Given the description of an element on the screen output the (x, y) to click on. 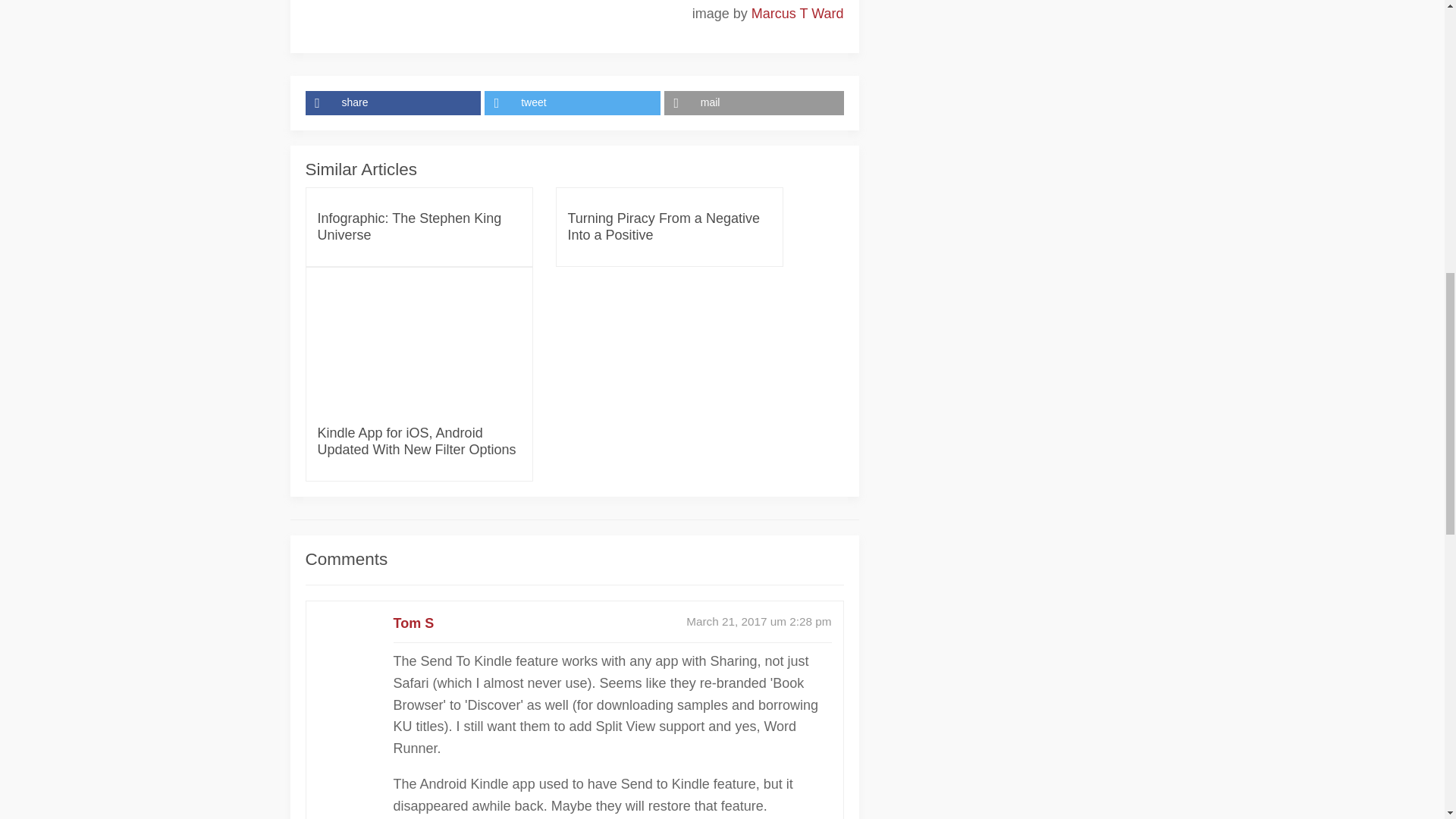
Turning Piracy From a Negative Into a Positive (668, 226)
Marcus T Ward (797, 13)
Infographic: The Stephen King Universe (418, 226)
Kindle App for iOS, Android Updated With New Filter Options (418, 346)
Turning Piracy From a Negative Into a Positive (668, 226)
share (394, 102)
Kindle App for iOS, Android Updated With New Filter Options (418, 441)
Kindle App for iOS, Android Updated With New Filter Options (418, 441)
mail (753, 102)
Infographic: The Stephen King Universe (418, 226)
